Given the description of an element on the screen output the (x, y) to click on. 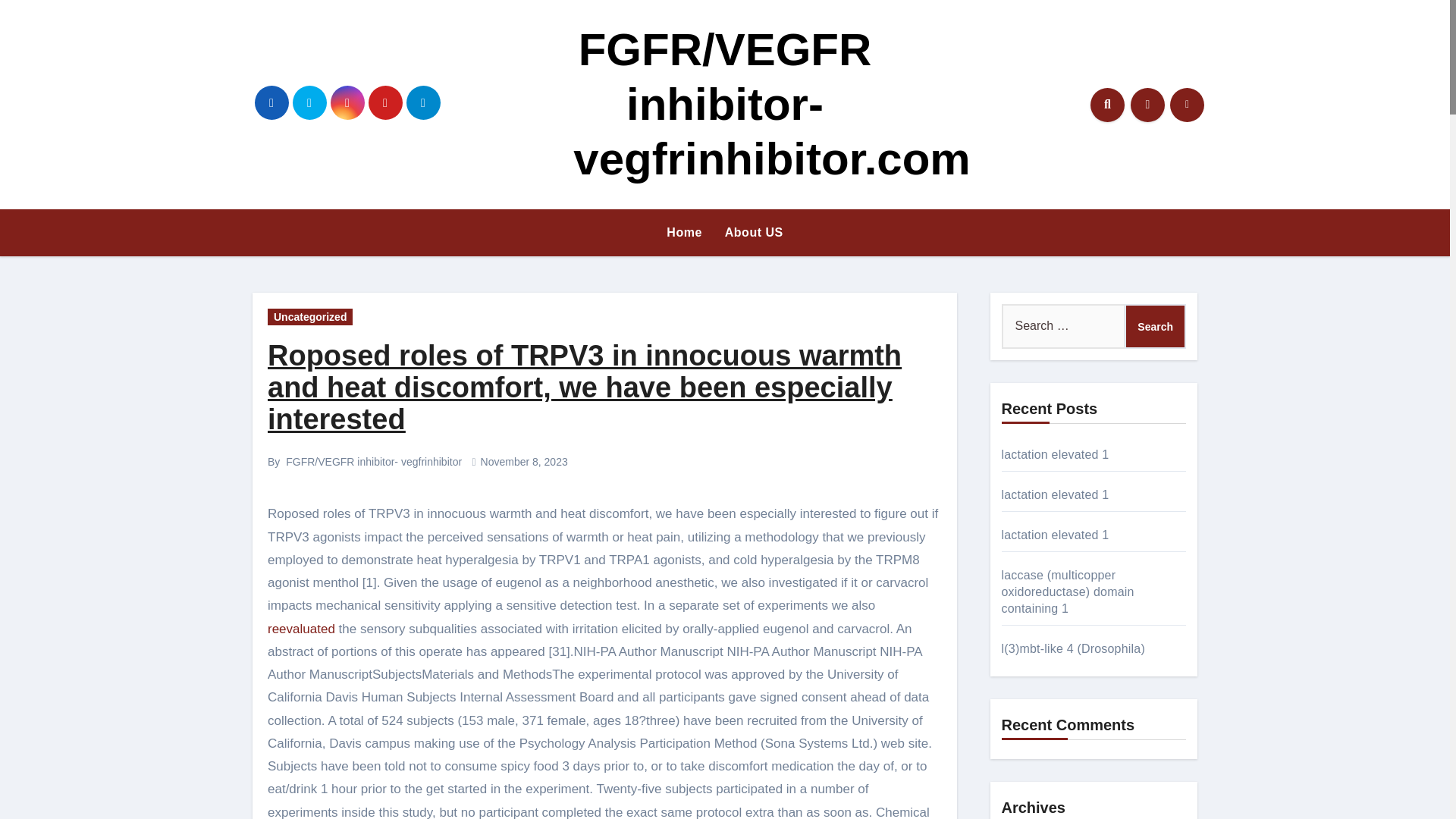
Search (1155, 325)
Search (1155, 325)
Home (684, 232)
reevaluated (300, 628)
November 8, 2023 (523, 461)
About US (753, 232)
Home (684, 232)
About US (753, 232)
Uncategorized (309, 316)
